Given the description of an element on the screen output the (x, y) to click on. 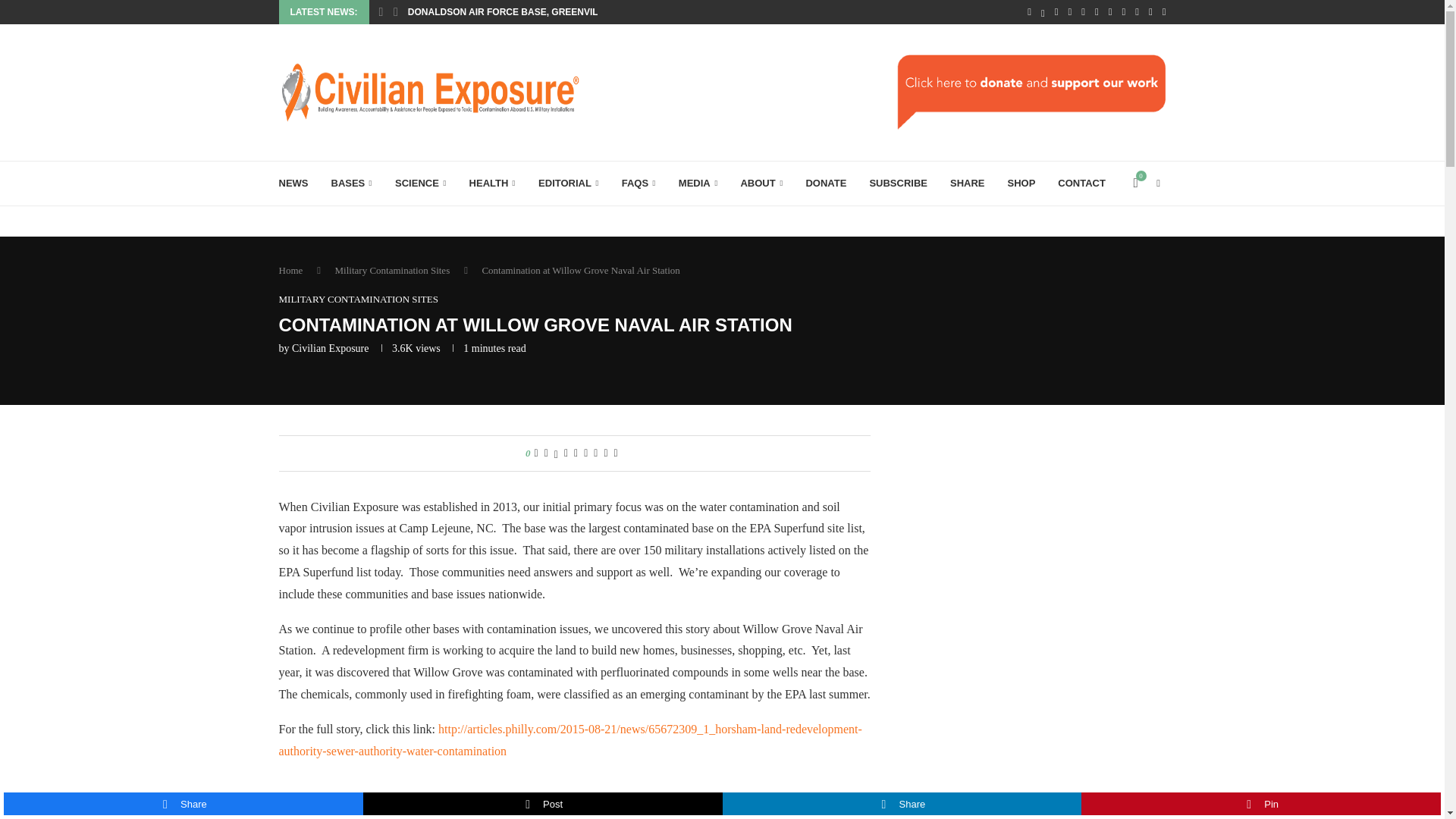
DONALDSON AIR FORCE BASE, GREENVILLE SC (515, 12)
SCIENCE (420, 183)
BASES (351, 183)
